Given the description of an element on the screen output the (x, y) to click on. 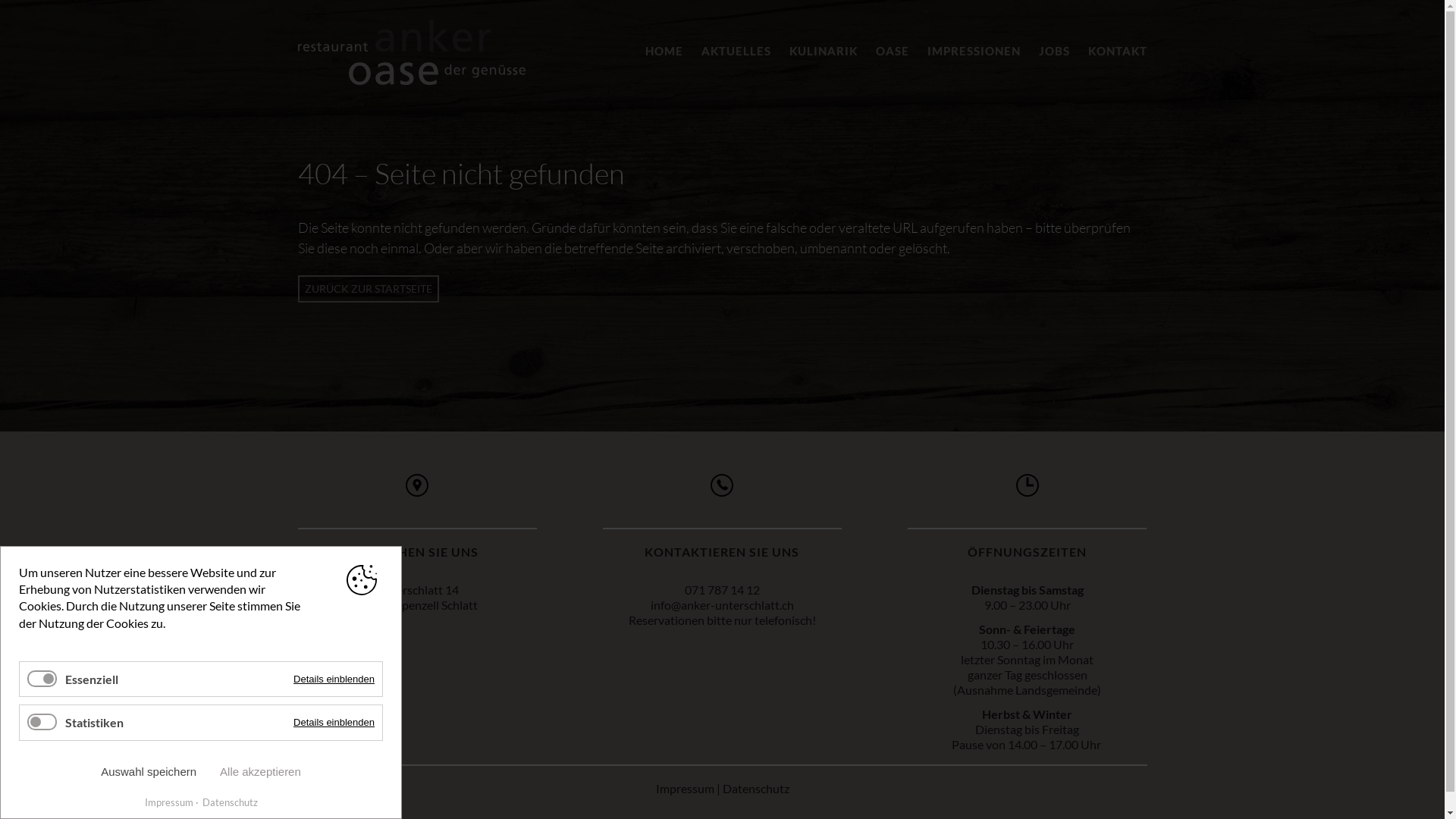
IMPRESSIONEN Element type: text (972, 50)
Alle akzeptieren Element type: text (260, 771)
KONTAKT Element type: text (1116, 50)
Details einblenden Element type: text (333, 722)
OASE Element type: text (891, 50)
Impressum Element type: text (168, 801)
Datenschutz Element type: text (754, 788)
Impressum Element type: text (684, 788)
JOBS Element type: text (1054, 50)
KULINARIK Element type: text (822, 50)
HOME Element type: text (663, 50)
AKTUELLES Element type: text (735, 50)
Details einblenden Element type: text (333, 679)
Datenschutz Element type: text (226, 801)
Auswahl speichern Element type: text (148, 771)
info@anker-unterschlatt.ch Element type: text (721, 604)
